Given the description of an element on the screen output the (x, y) to click on. 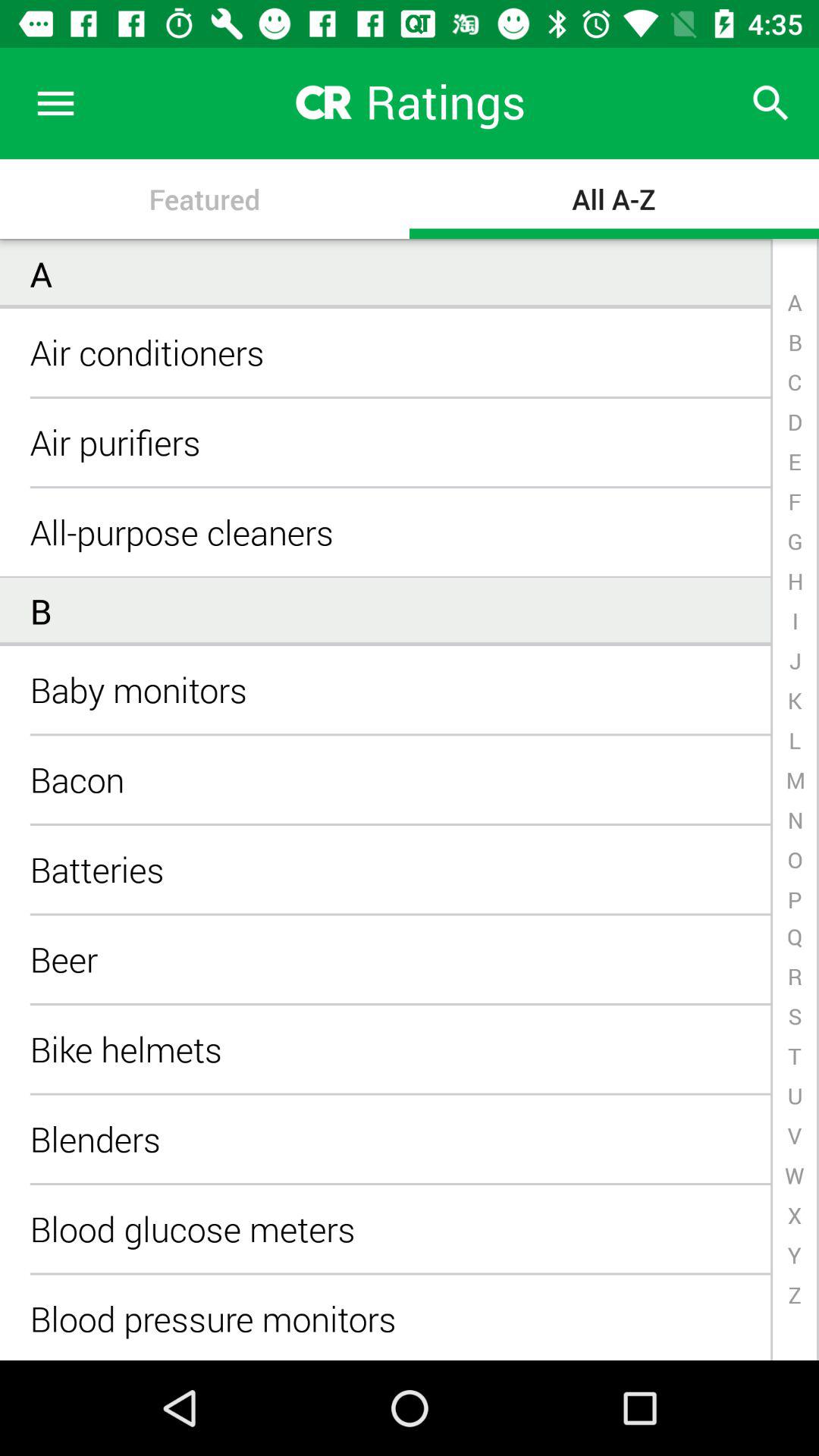
click the icon next to the ratings icon (771, 103)
